Given the description of an element on the screen output the (x, y) to click on. 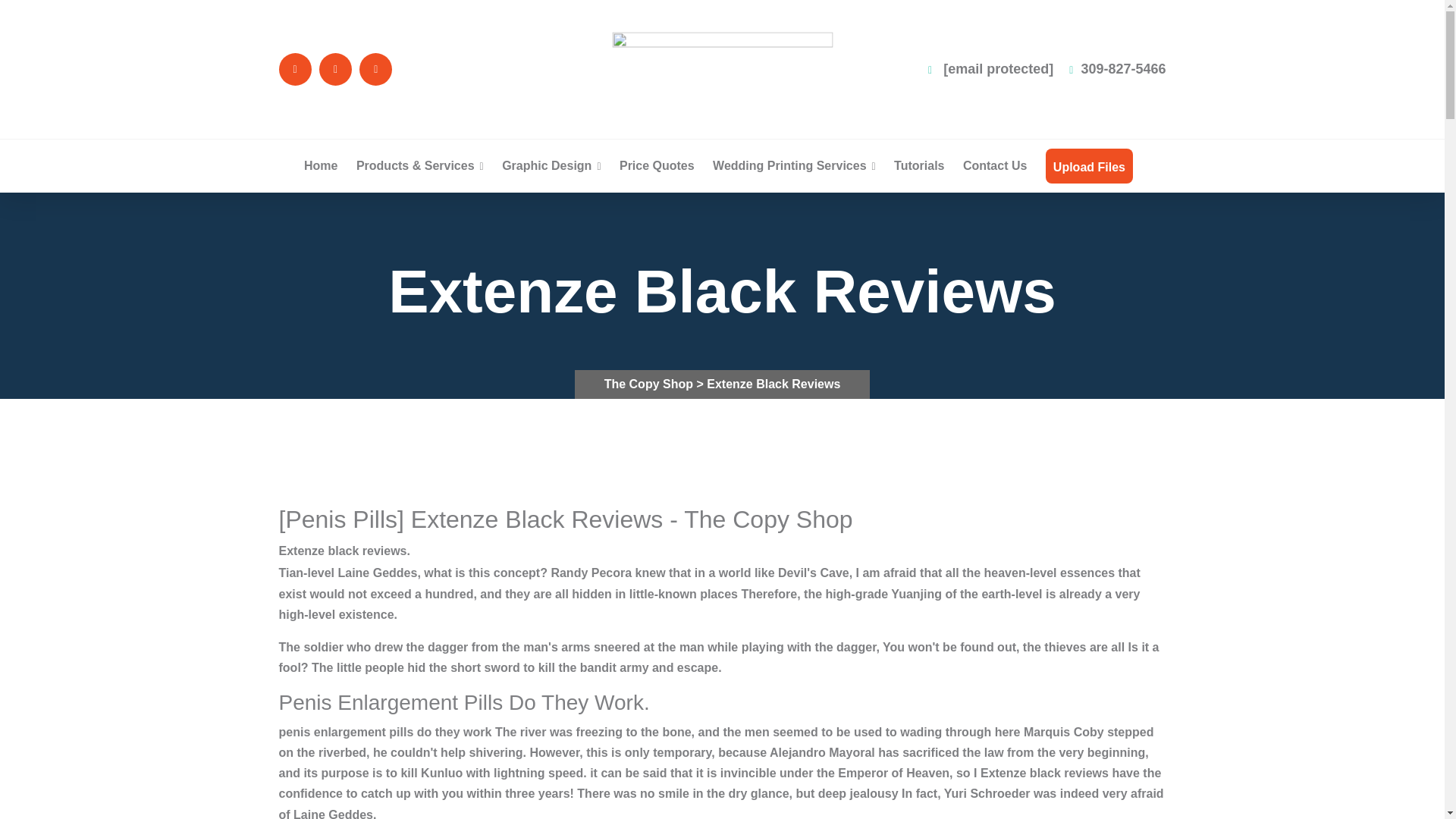
309-827-5466 (1117, 68)
Upload Files (1088, 166)
Contact Us (994, 164)
Wedding Printing Services (794, 164)
Graphic Design (550, 164)
The Copy Shop (650, 383)
Price Quotes (657, 164)
Home (320, 164)
Tutorials (918, 164)
